Given the description of an element on the screen output the (x, y) to click on. 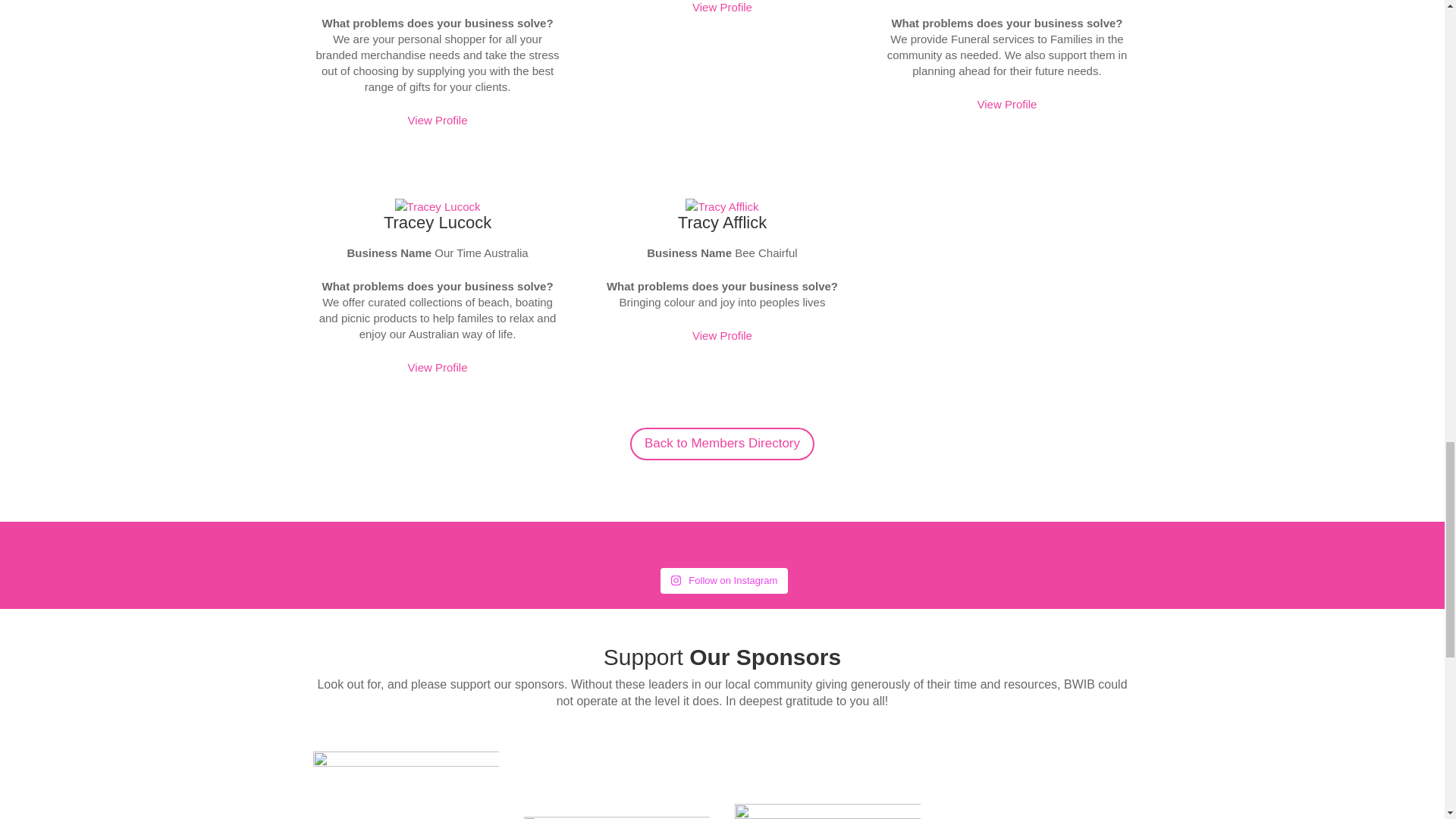
southerncross-v2 (828, 811)
Page 34 (722, 693)
logo (406, 785)
WYNNUM-MANLY-LEAGUES-CLUB-LOGO-WHITE-LANDSCAPE-FORMAT (617, 817)
